Given the description of an element on the screen output the (x, y) to click on. 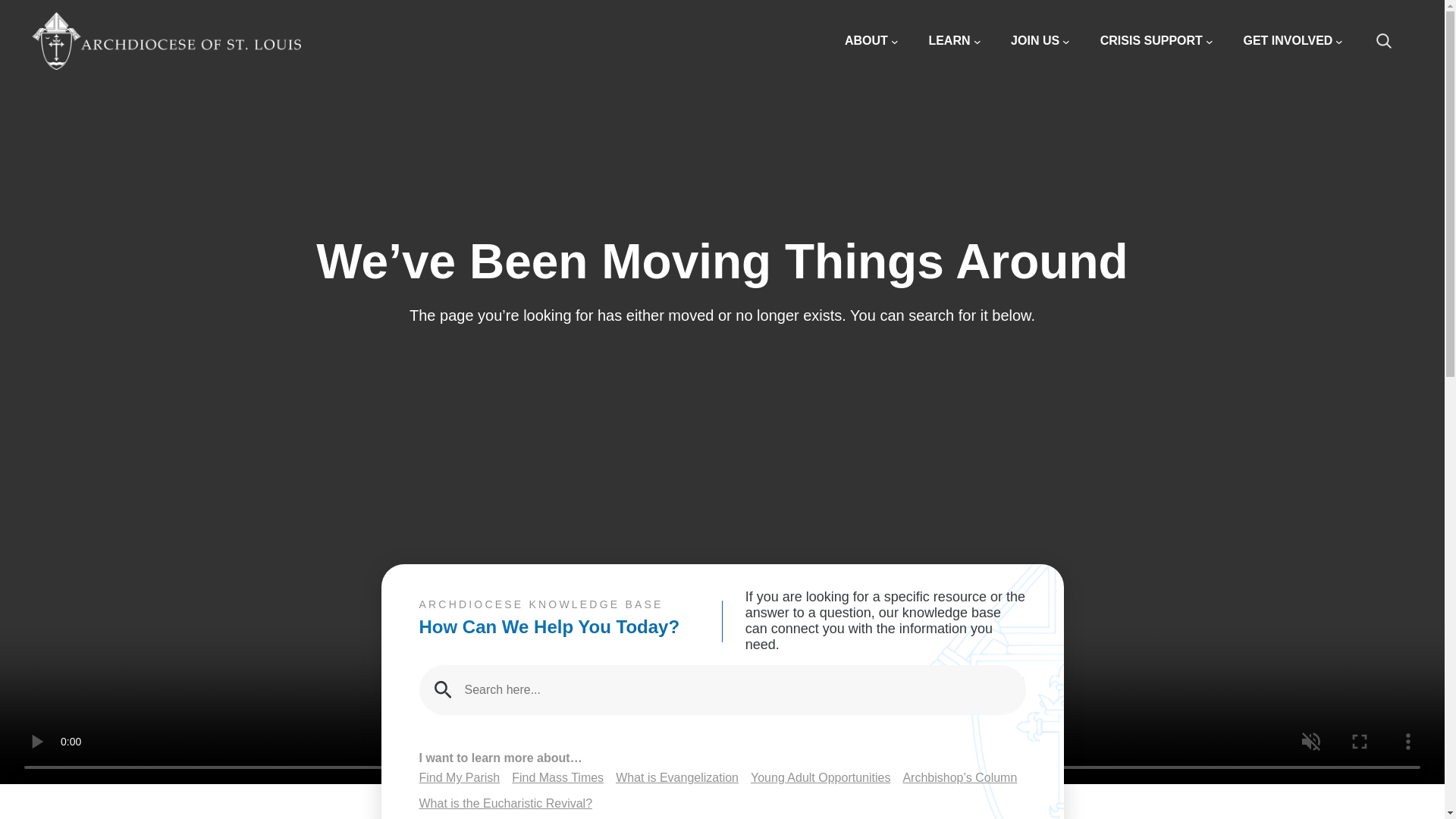
ABOUT (871, 40)
JOIN US (1040, 40)
search (1392, 40)
LEARN (953, 40)
CRISIS SUPPORT (1156, 40)
GET INVOLVED (1292, 40)
